Given the description of an element on the screen output the (x, y) to click on. 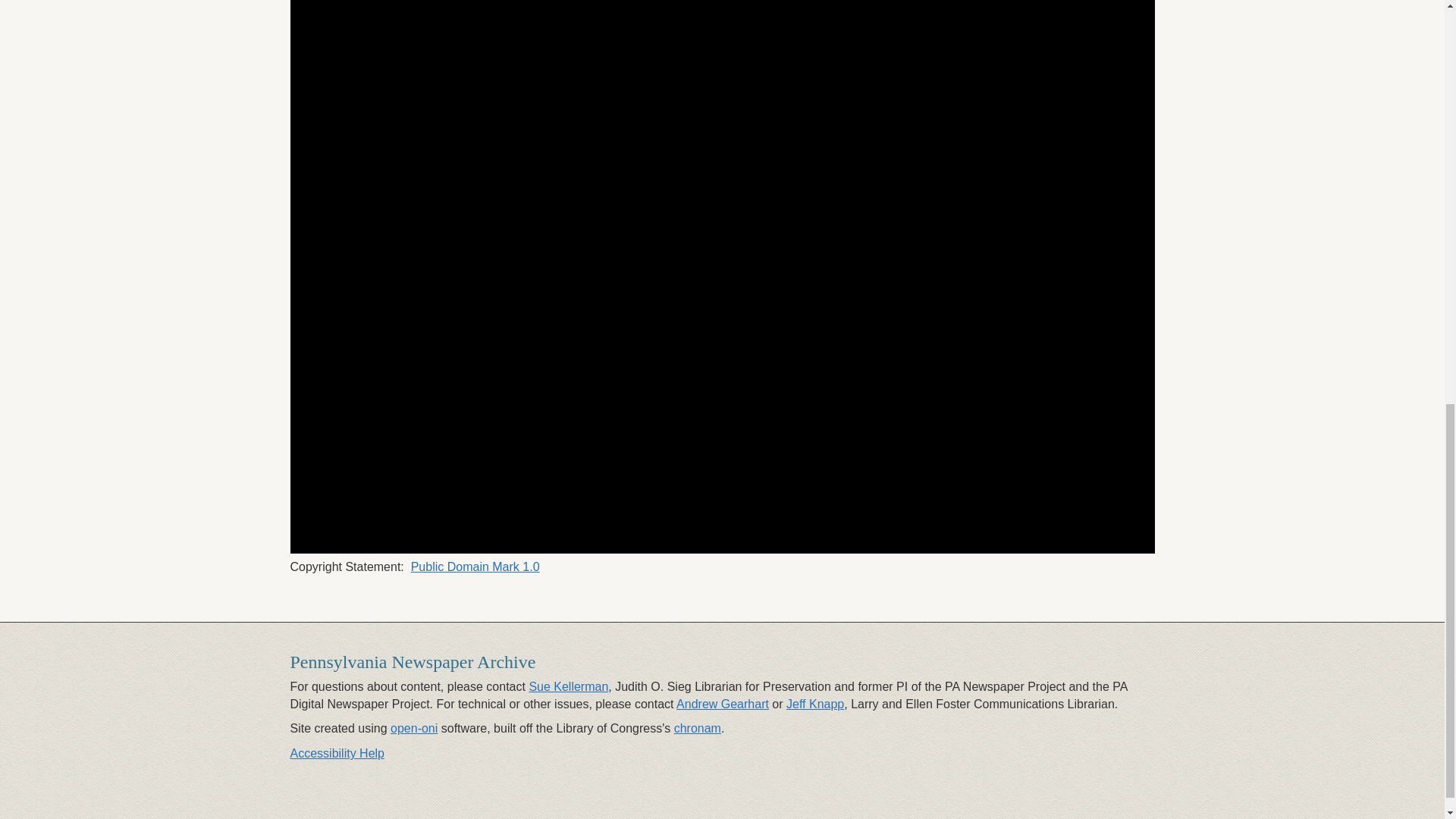
Public Domain Mark 1.0 (475, 566)
Sue Kellerman (568, 686)
Accessibility Help (336, 753)
Jeff Knapp (815, 703)
chronam (697, 727)
open-oni (414, 727)
Andrew Gearhart (722, 703)
